Given the description of an element on the screen output the (x, y) to click on. 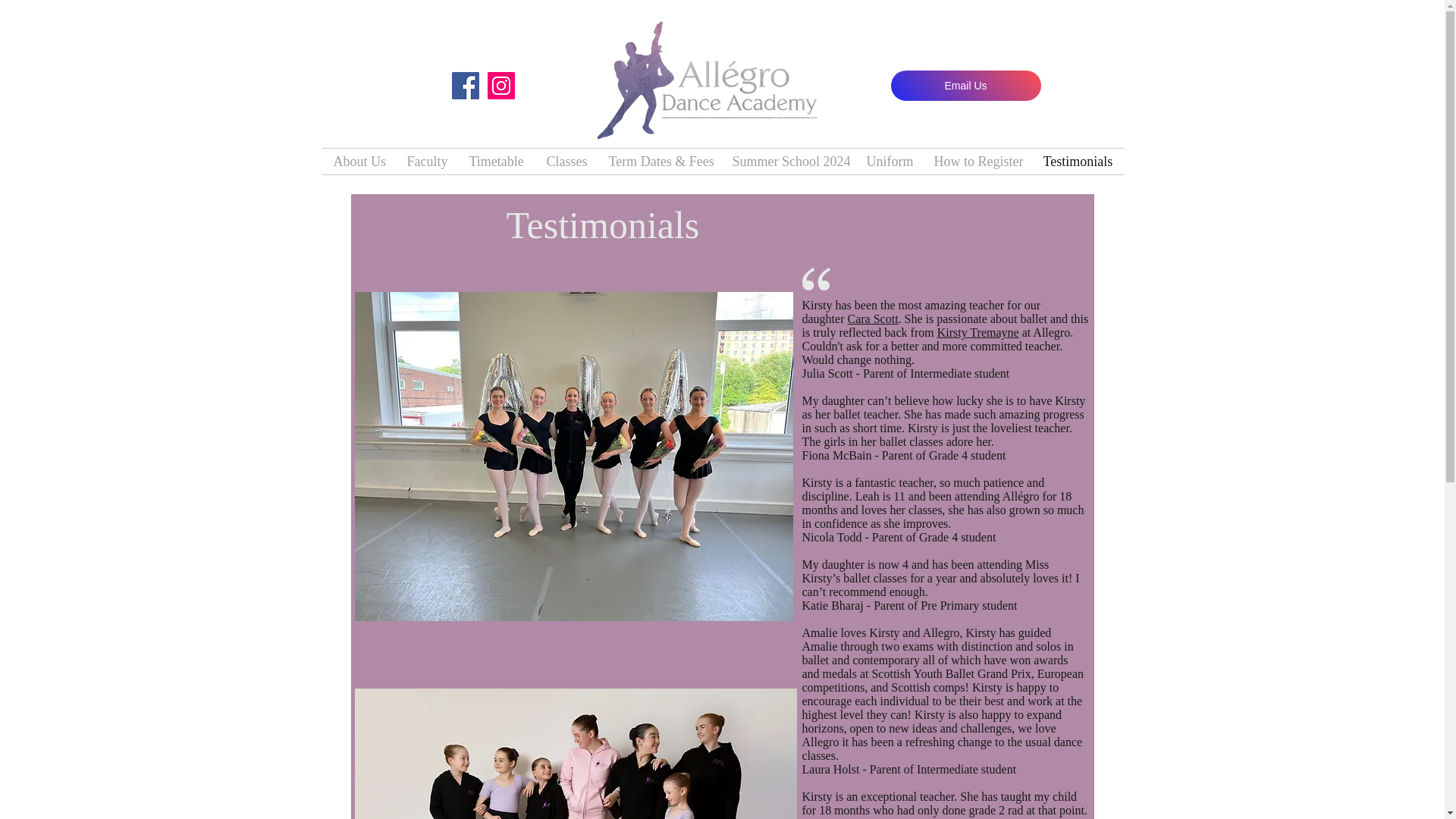
Classes (565, 161)
Cara Scott (872, 318)
Uniform (889, 161)
Summer School 2024 (787, 161)
Email Us (965, 85)
About Us (357, 161)
Kirsty Tremayne (978, 332)
Testimonials (1076, 161)
Faculty (427, 161)
How to Register (975, 161)
